Given the description of an element on the screen output the (x, y) to click on. 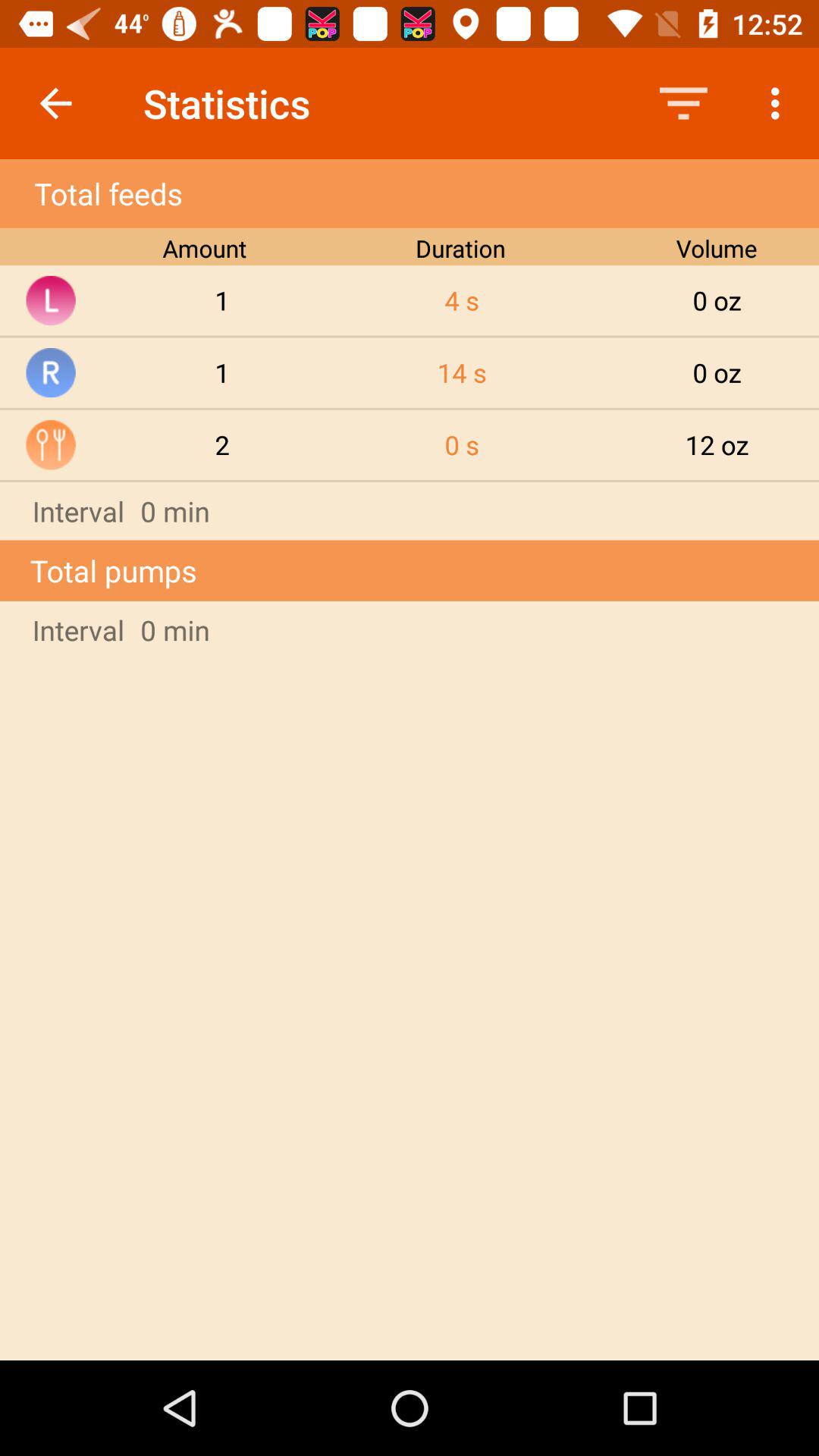
turn on the item next to the 0 oz icon (461, 445)
